Given the description of an element on the screen output the (x, y) to click on. 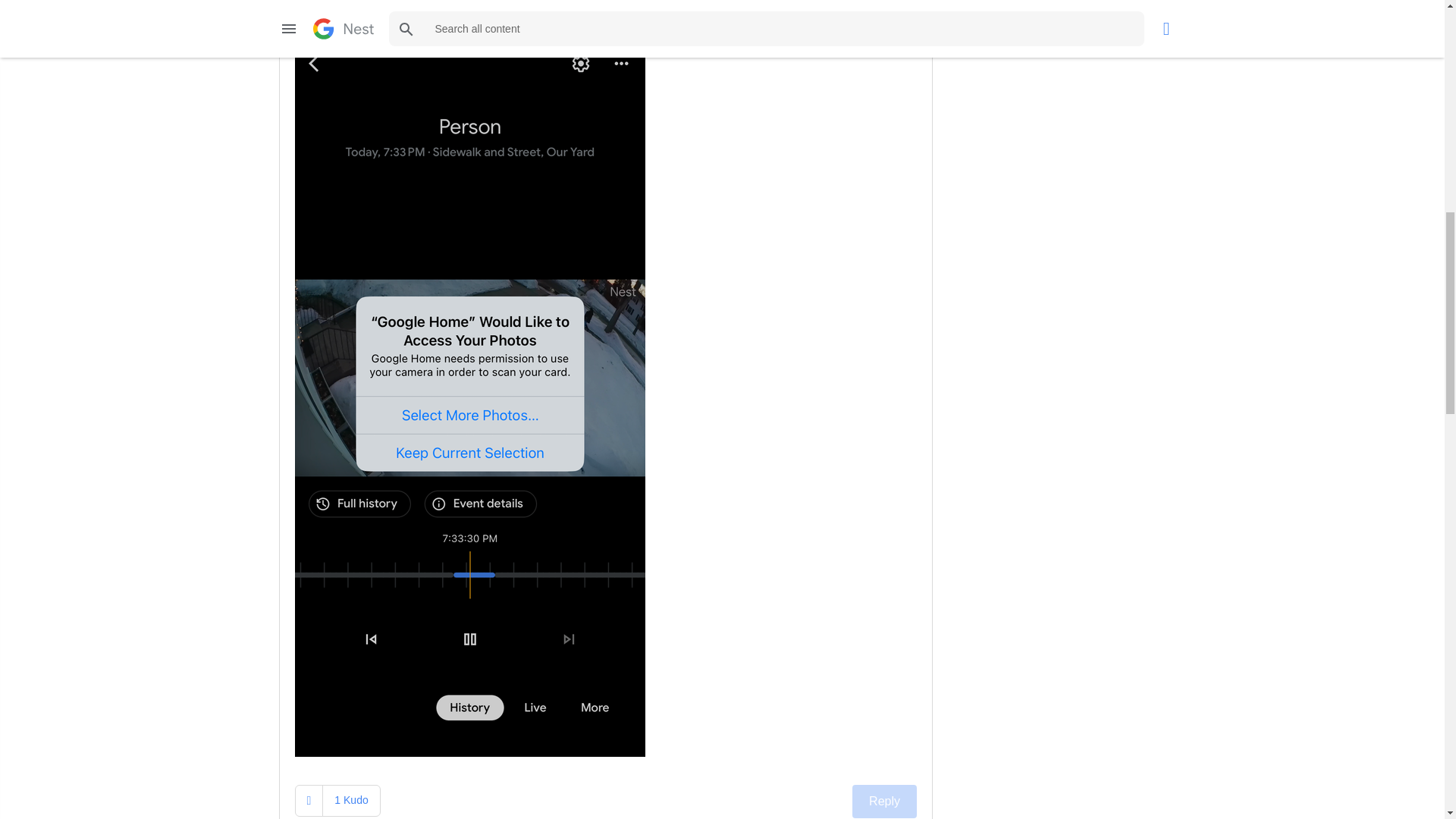
Click here to see who gave kudos to this post. (350, 799)
